Given the description of an element on the screen output the (x, y) to click on. 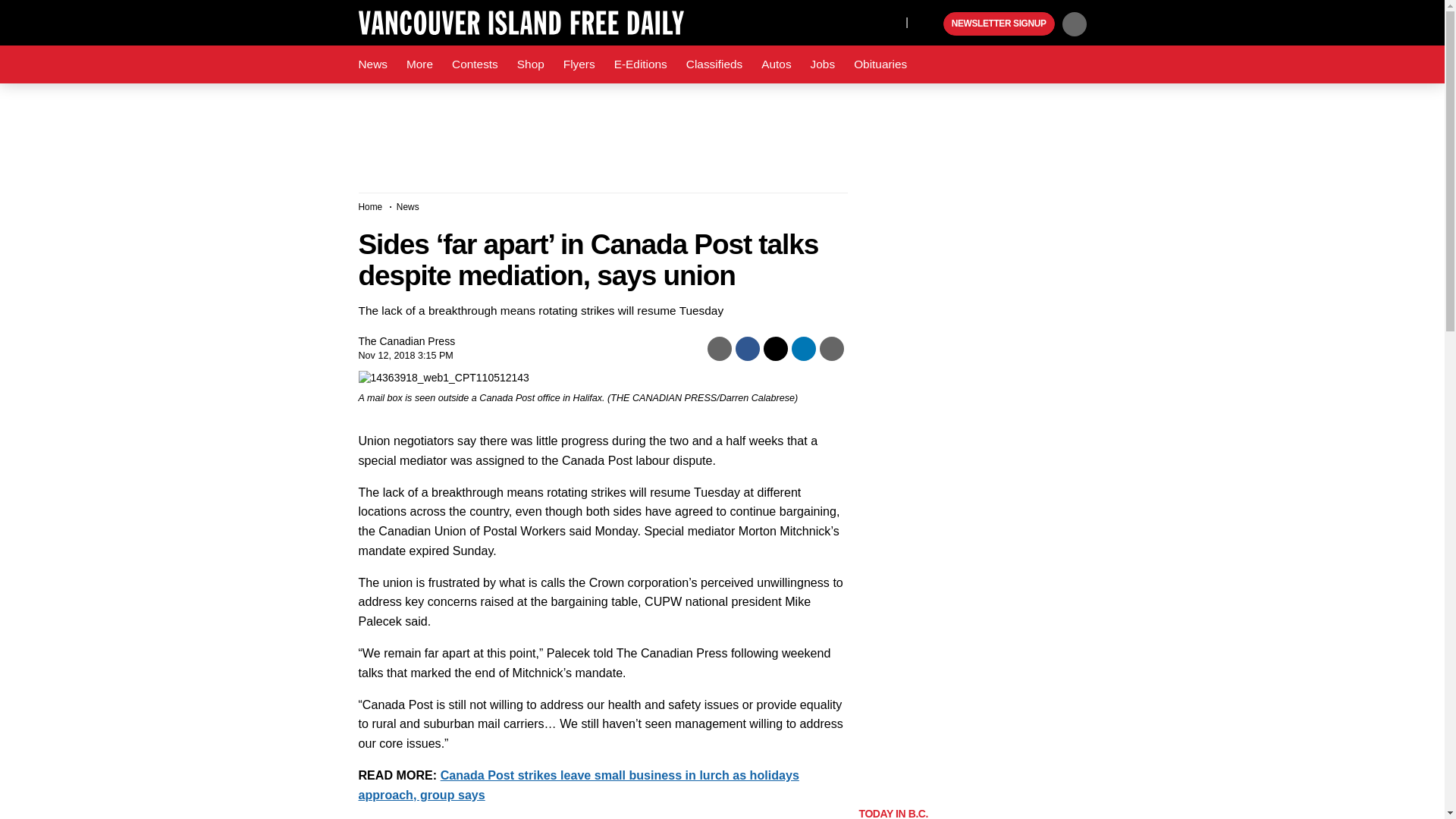
NEWSLETTER SIGNUP (998, 24)
X (853, 21)
Facebook (823, 21)
News (372, 64)
Instagram (889, 21)
Play (929, 24)
Black Press Media (929, 24)
